Given the description of an element on the screen output the (x, y) to click on. 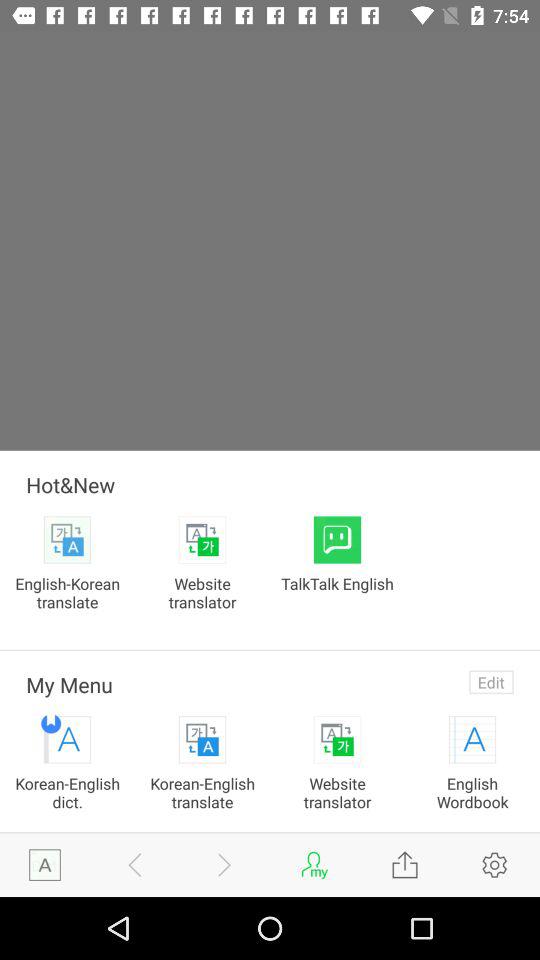
scroll until edit icon (491, 682)
